Given the description of an element on the screen output the (x, y) to click on. 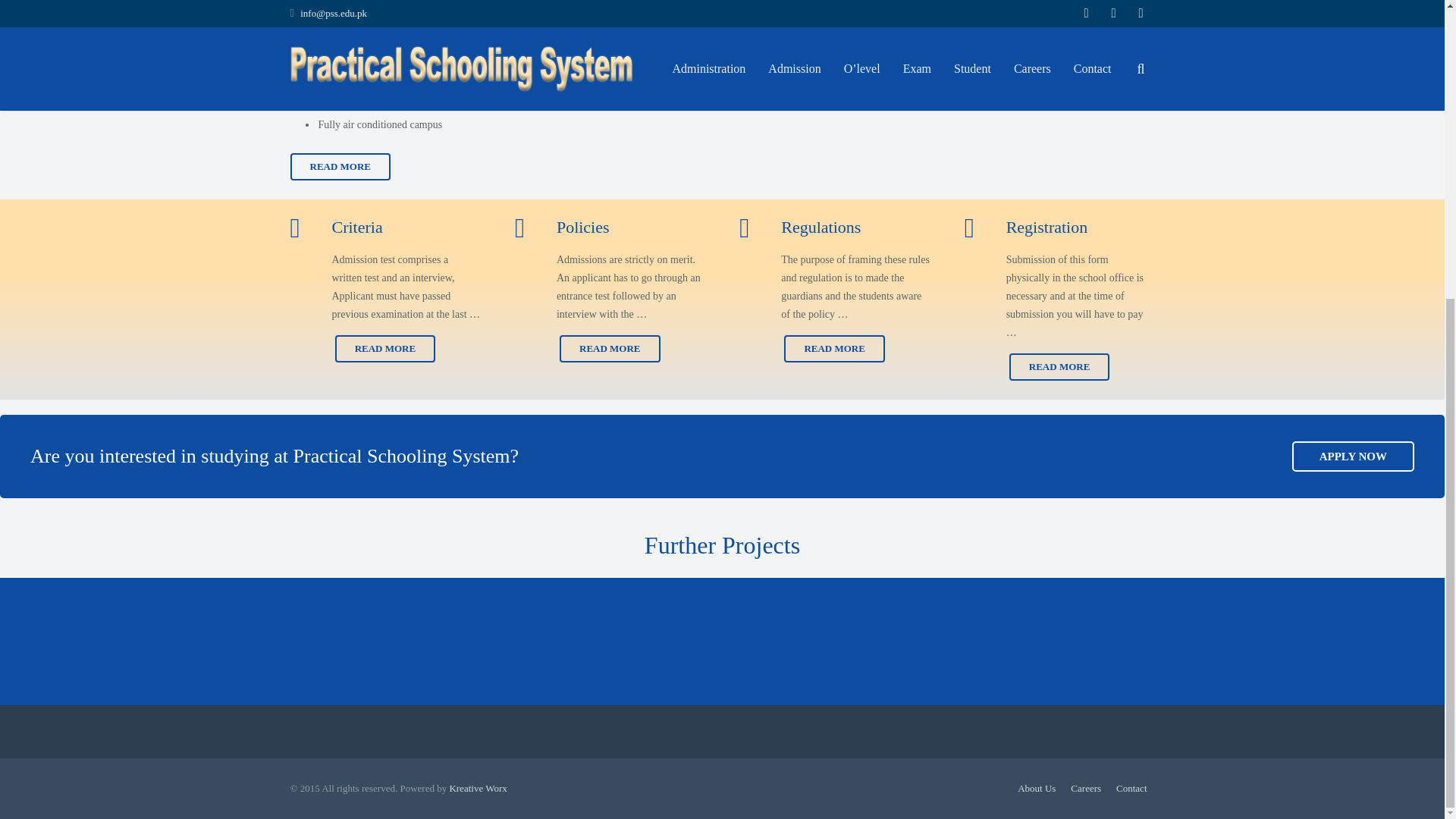
Regulations (834, 232)
READ MORE (610, 348)
READ MORE (834, 348)
READ MORE (1059, 366)
Policies (609, 232)
Criteria (384, 232)
APPLY NOW (1352, 456)
Registration (1058, 232)
READ MORE (339, 166)
READ MORE (384, 348)
